Given the description of an element on the screen output the (x, y) to click on. 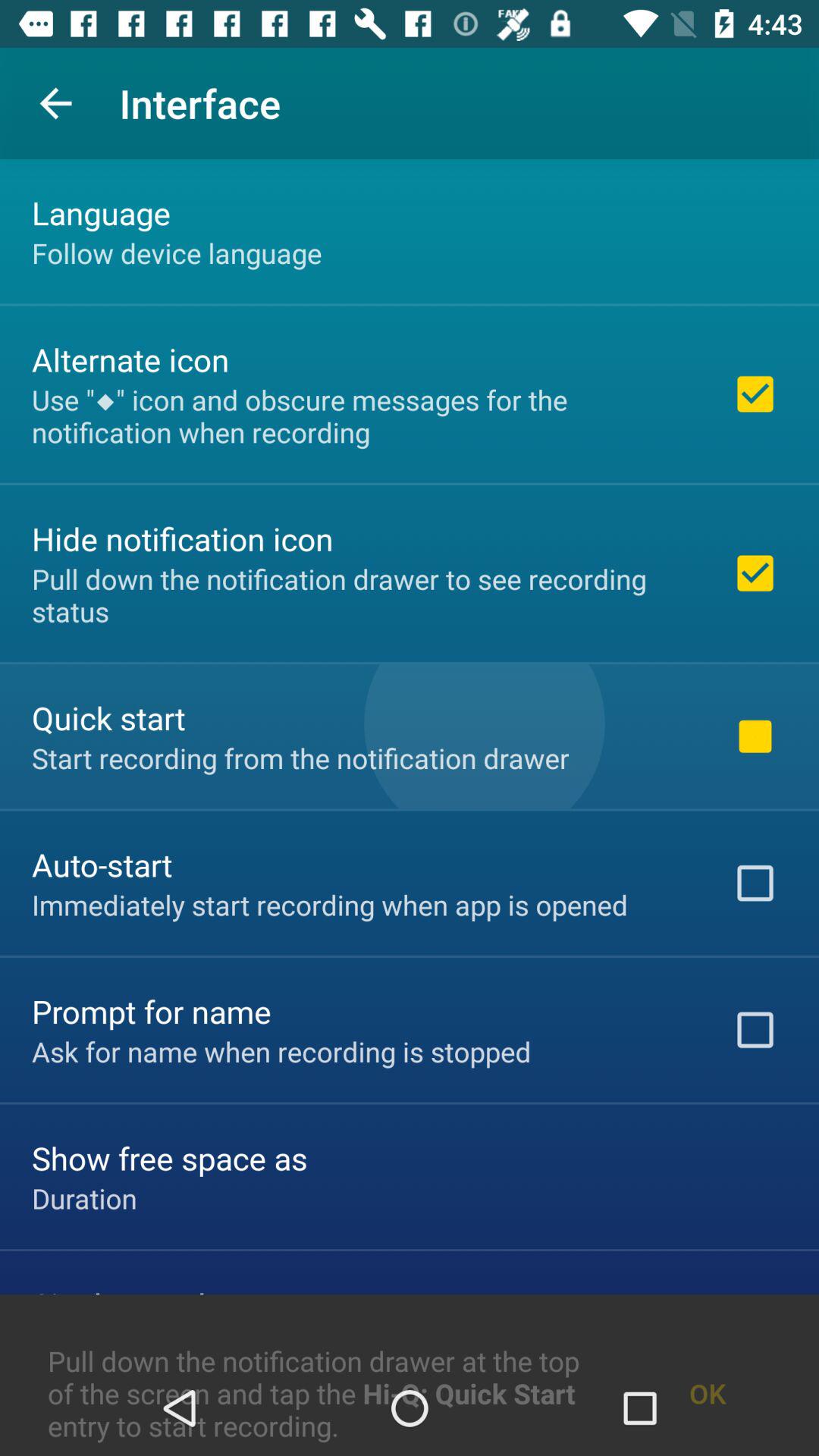
launch icon above alternate icon (176, 252)
